Given the description of an element on the screen output the (x, y) to click on. 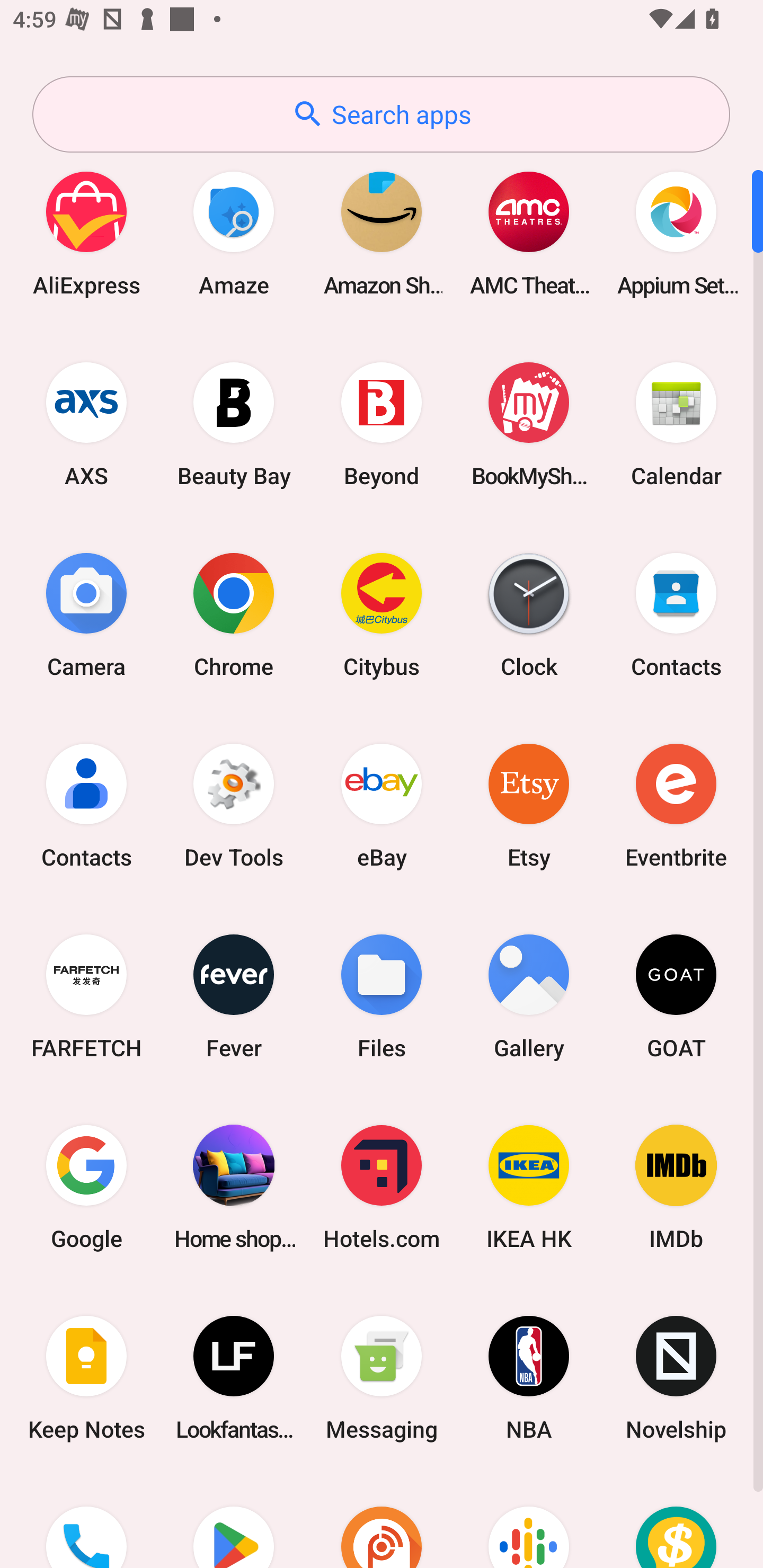
  Search apps (381, 114)
AliExpress (86, 233)
Amaze (233, 233)
Amazon Shopping (381, 233)
AMC Theatres (528, 233)
Appium Settings (676, 233)
AXS (86, 424)
Beauty Bay (233, 424)
Beyond (381, 424)
BookMyShow (528, 424)
Calendar (676, 424)
Camera (86, 614)
Chrome (233, 614)
Citybus (381, 614)
Clock (528, 614)
Contacts (676, 614)
Contacts (86, 805)
Dev Tools (233, 805)
eBay (381, 805)
Etsy (528, 805)
Eventbrite (676, 805)
FARFETCH (86, 996)
Fever (233, 996)
Files (381, 996)
Gallery (528, 996)
GOAT (676, 996)
Google (86, 1186)
Home shopping (233, 1186)
Hotels.com (381, 1186)
IKEA HK (528, 1186)
IMDb (676, 1186)
Keep Notes (86, 1377)
Lookfantastic (233, 1377)
Messaging (381, 1377)
NBA (528, 1377)
Novelship (676, 1377)
Phone (86, 1520)
Play Store (233, 1520)
Podcast Addict (381, 1520)
Podcasts (528, 1520)
Price (676, 1520)
